Given the description of an element on the screen output the (x, y) to click on. 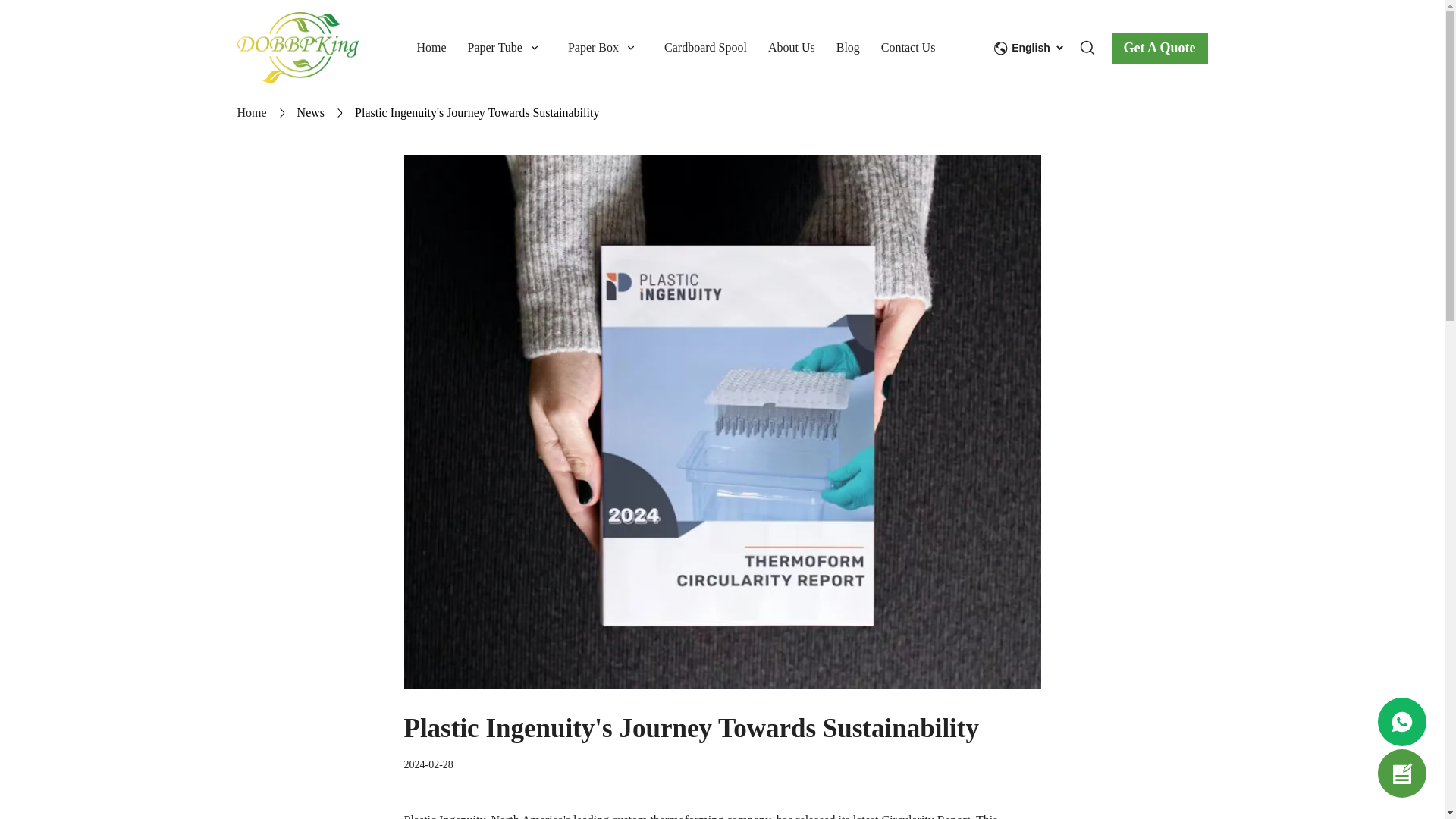
Cardboard Spool (715, 49)
Paper Tube (517, 49)
Contact Us (908, 49)
Home (441, 49)
About Us (801, 49)
Home (250, 112)
Blog (857, 49)
News (310, 112)
Paper Box (615, 49)
